Given the description of an element on the screen output the (x, y) to click on. 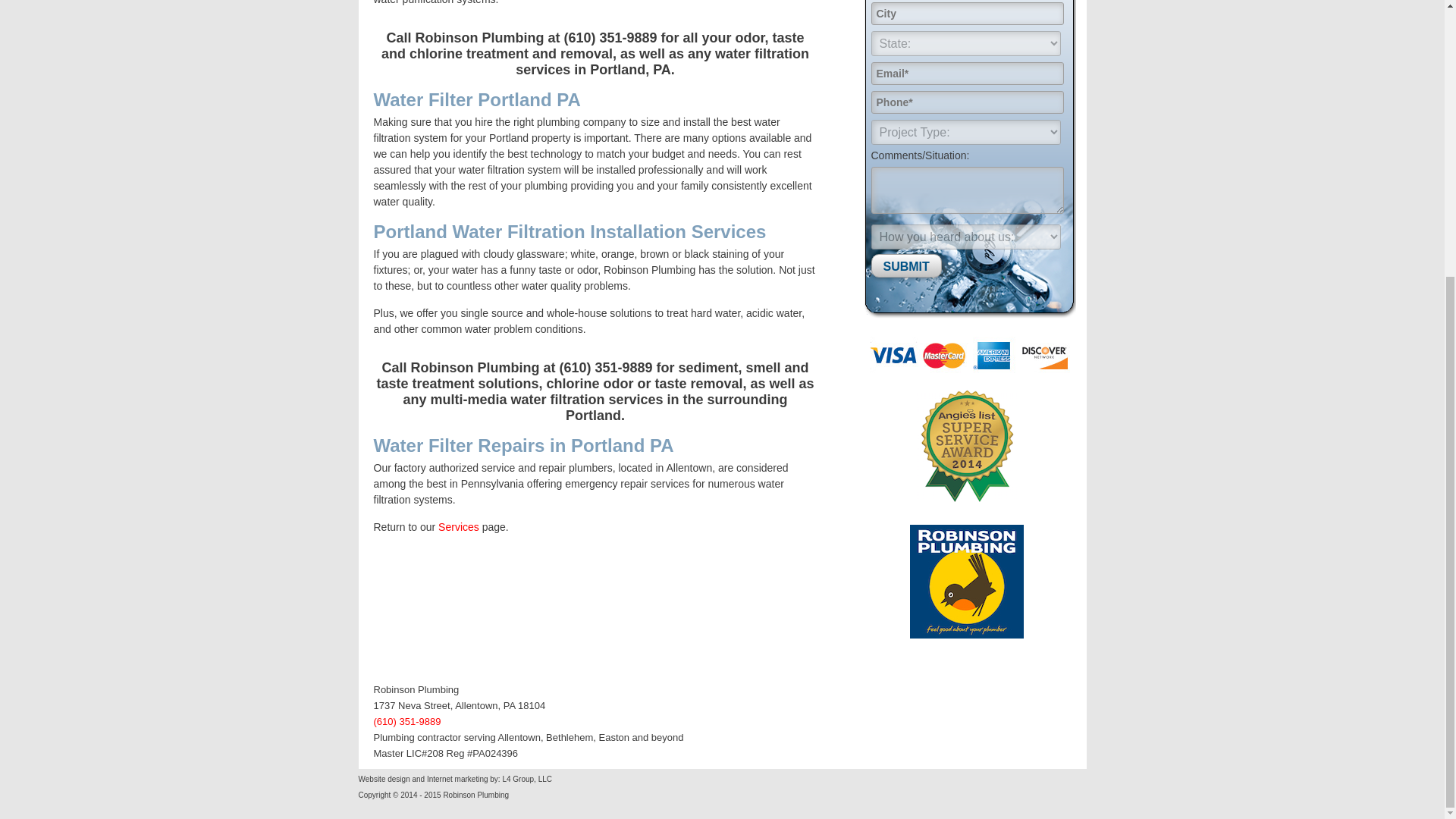
SUBMIT (905, 265)
Services (458, 526)
SUBMIT (905, 265)
Services (458, 526)
